Given the description of an element on the screen output the (x, y) to click on. 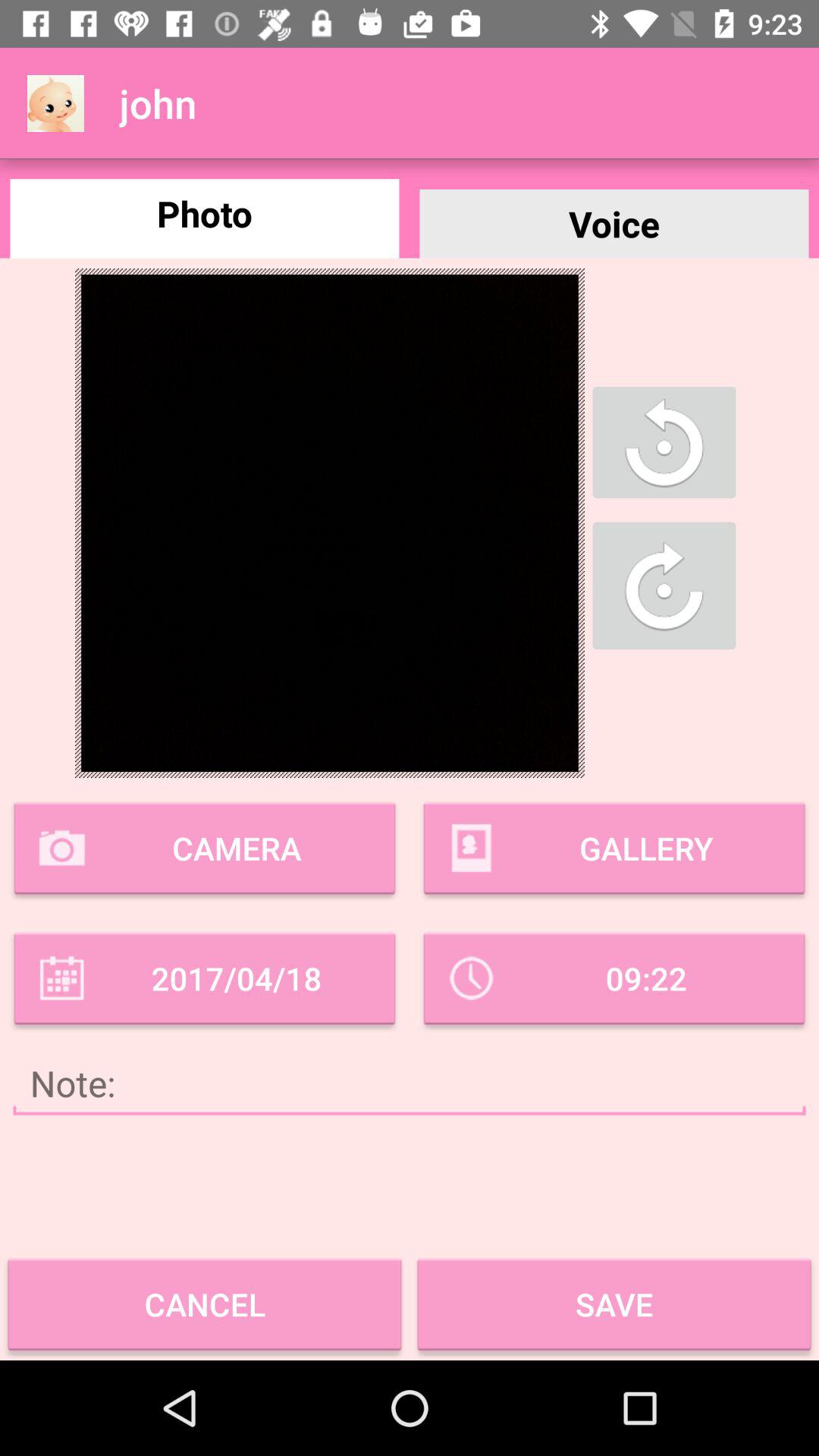
click on camera (204, 848)
click on gallery (614, 848)
go to the box that reads save (614, 1304)
the second icon below voice (663, 586)
the button shown below voice (663, 442)
go to the text field below 0922 (409, 1083)
the blank image shown below photo (329, 523)
